Given the description of an element on the screen output the (x, y) to click on. 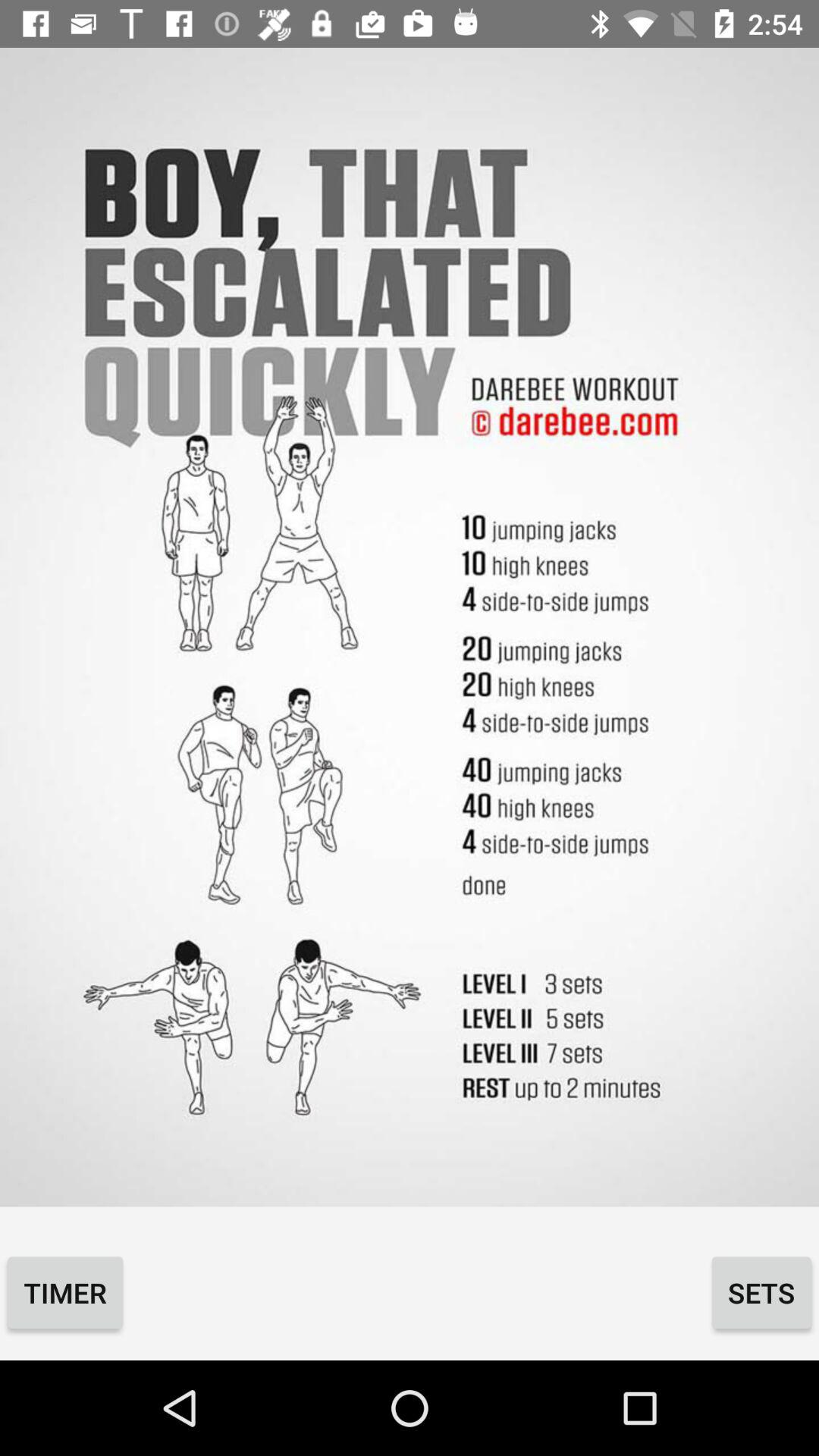
flip until the timer item (65, 1292)
